Given the description of an element on the screen output the (x, y) to click on. 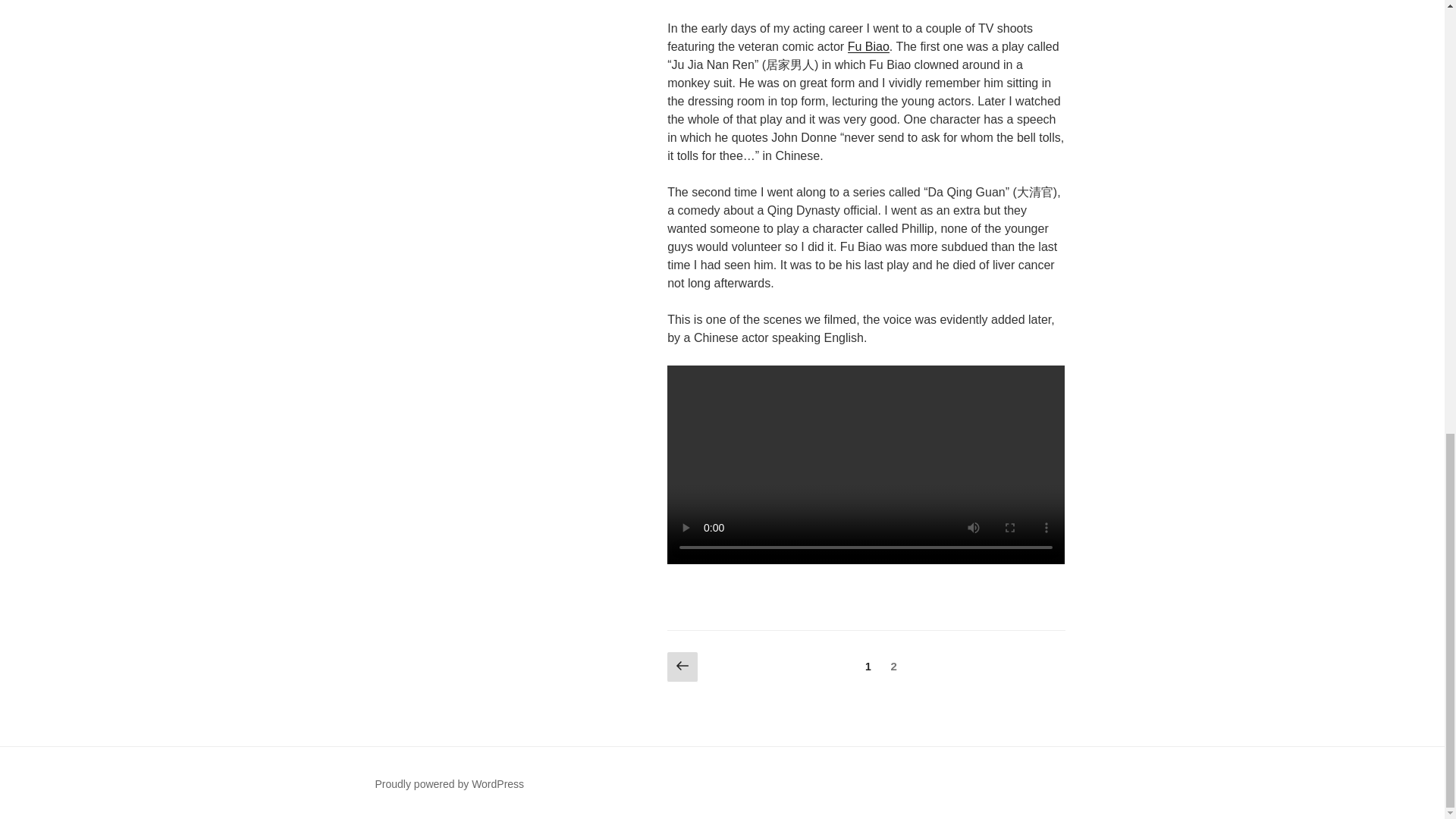
Proudly powered by WordPress (449, 784)
Previous page (681, 666)
Fu Biao (868, 46)
